Given the description of an element on the screen output the (x, y) to click on. 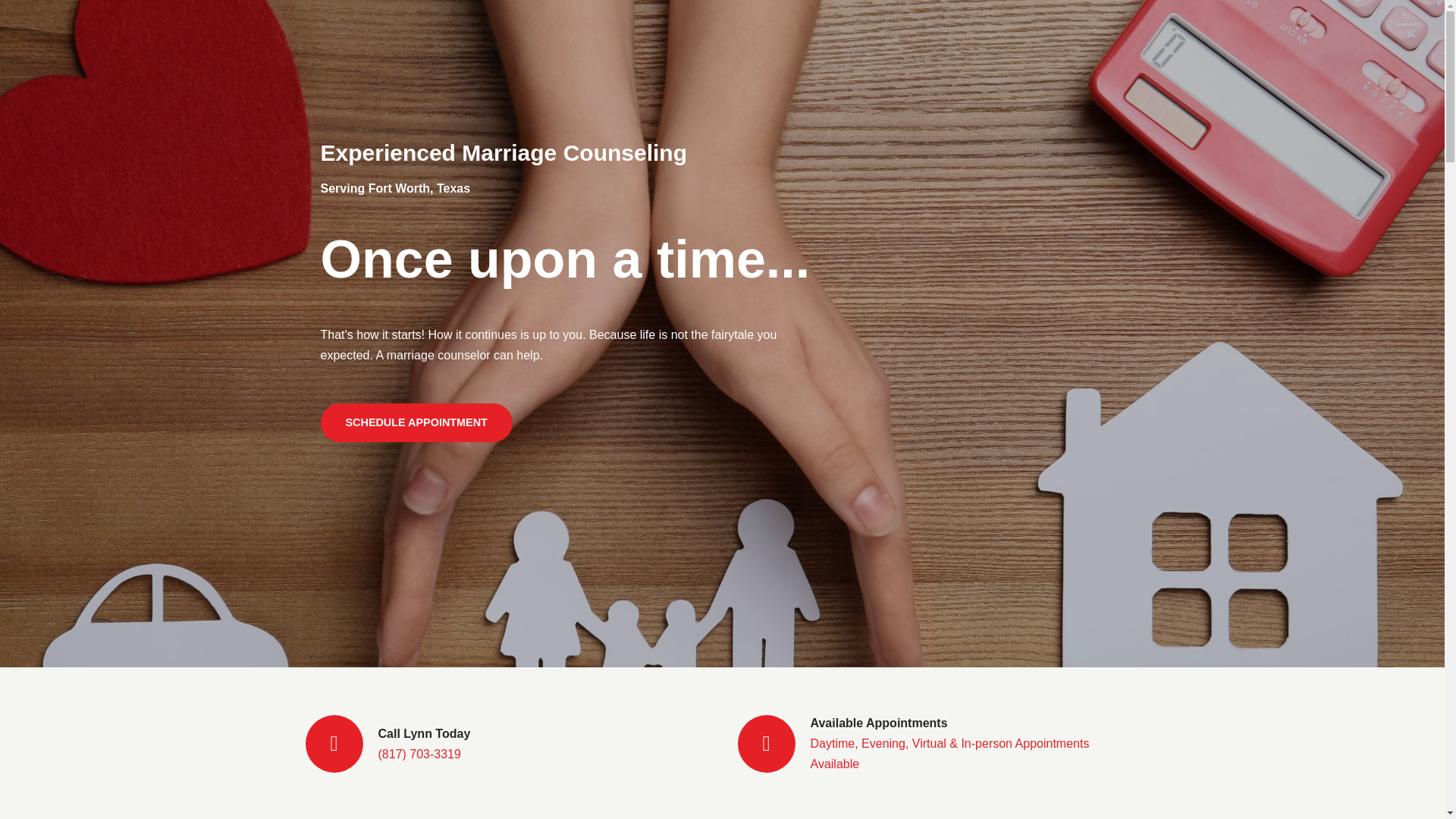
Call Lynn Today (423, 733)
SCHEDULE APPOINTMENT (416, 422)
Available Appointments (878, 722)
